Given the description of an element on the screen output the (x, y) to click on. 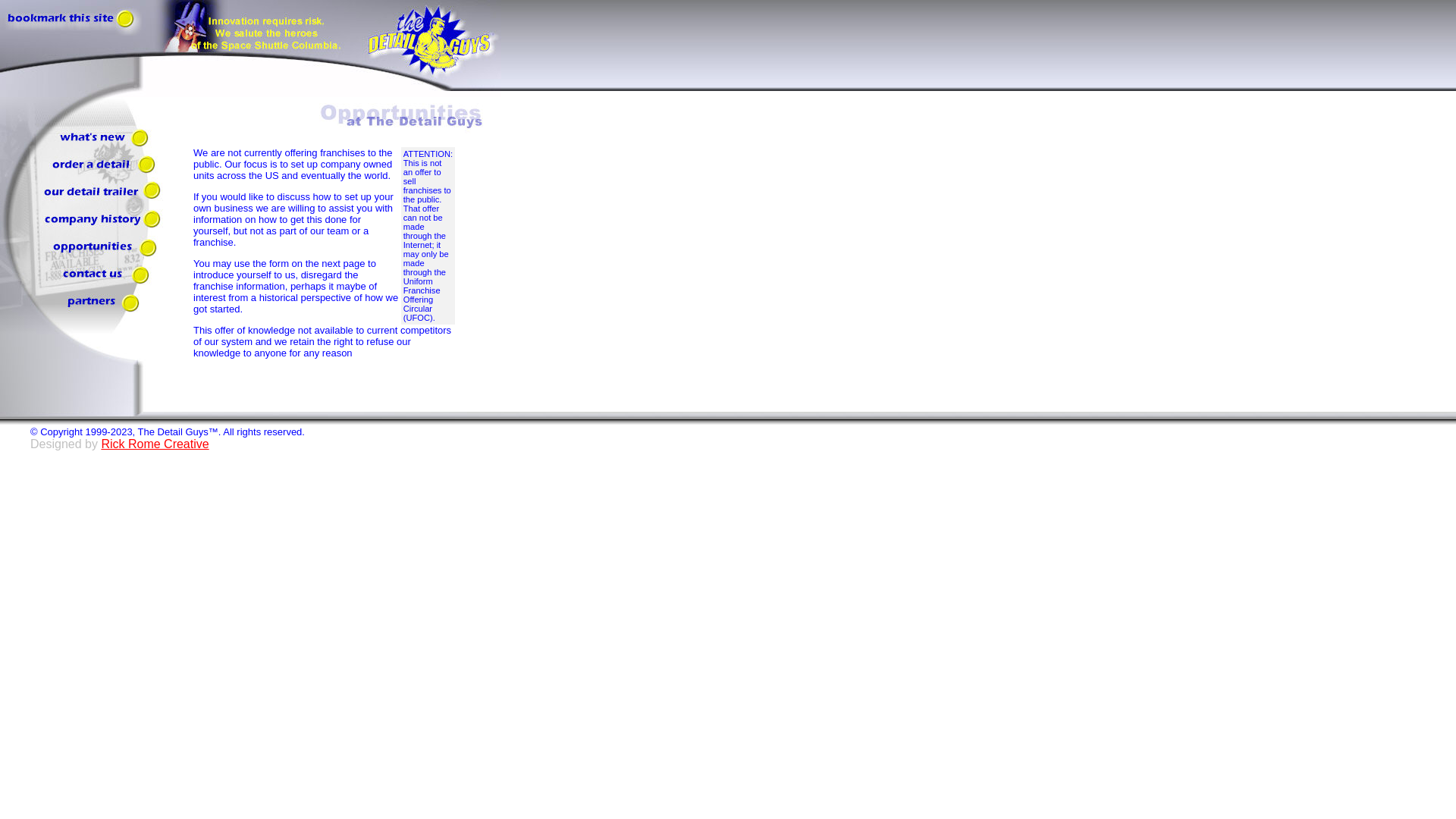
Rick Rome Creative (154, 443)
